Given the description of an element on the screen output the (x, y) to click on. 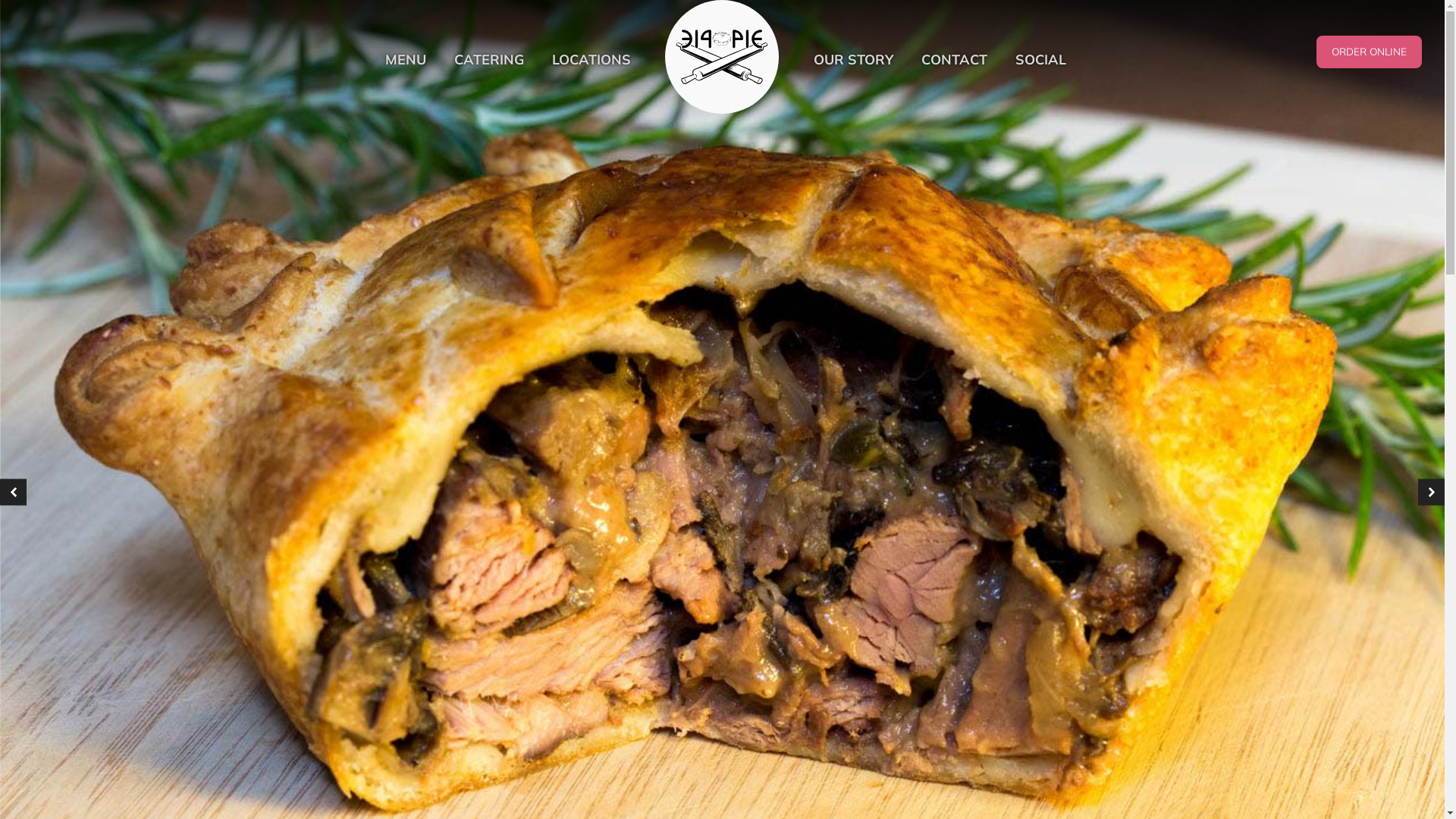
SOCIAL Element type: text (1040, 60)
ORDER ONLINE Element type: text (1369, 51)
CATERING Element type: text (488, 60)
OUR STORY Element type: text (853, 60)
CONTACT Element type: text (954, 60)
LOCATIONS Element type: text (590, 60)
MENU Element type: text (404, 60)
